Given the description of an element on the screen output the (x, y) to click on. 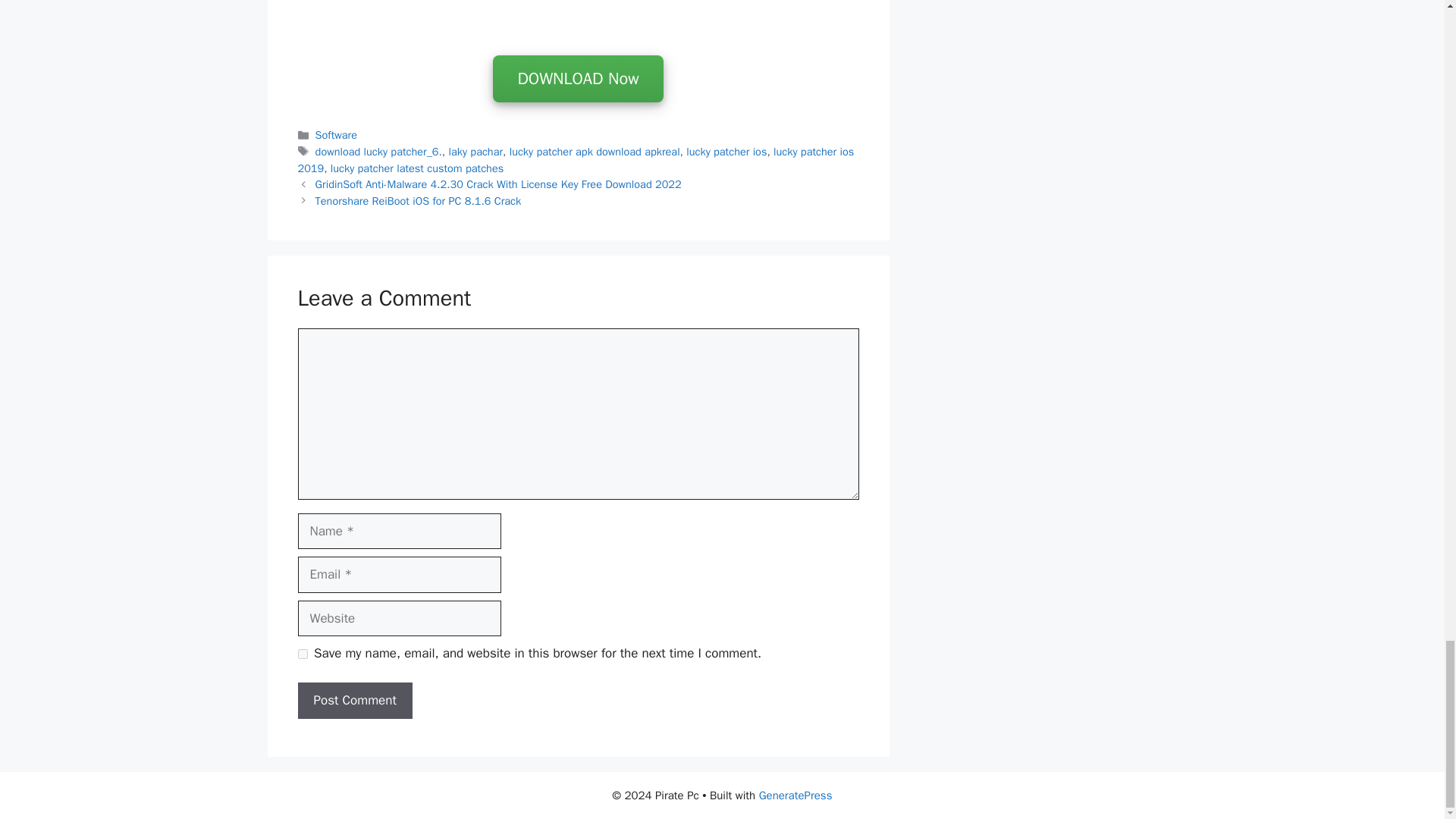
lucky patcher apk download apkreal (594, 151)
Post Comment (354, 700)
DOWNLOAD Now (577, 79)
Software (335, 134)
lucky patcher ios (726, 151)
DOWNLOAD Now (577, 79)
laky pachar (475, 151)
Tenorshare ReiBoot iOS for PC 8.1.6 Crack (418, 201)
lucky patcher latest custom patches (416, 168)
